Given the description of an element on the screen output the (x, y) to click on. 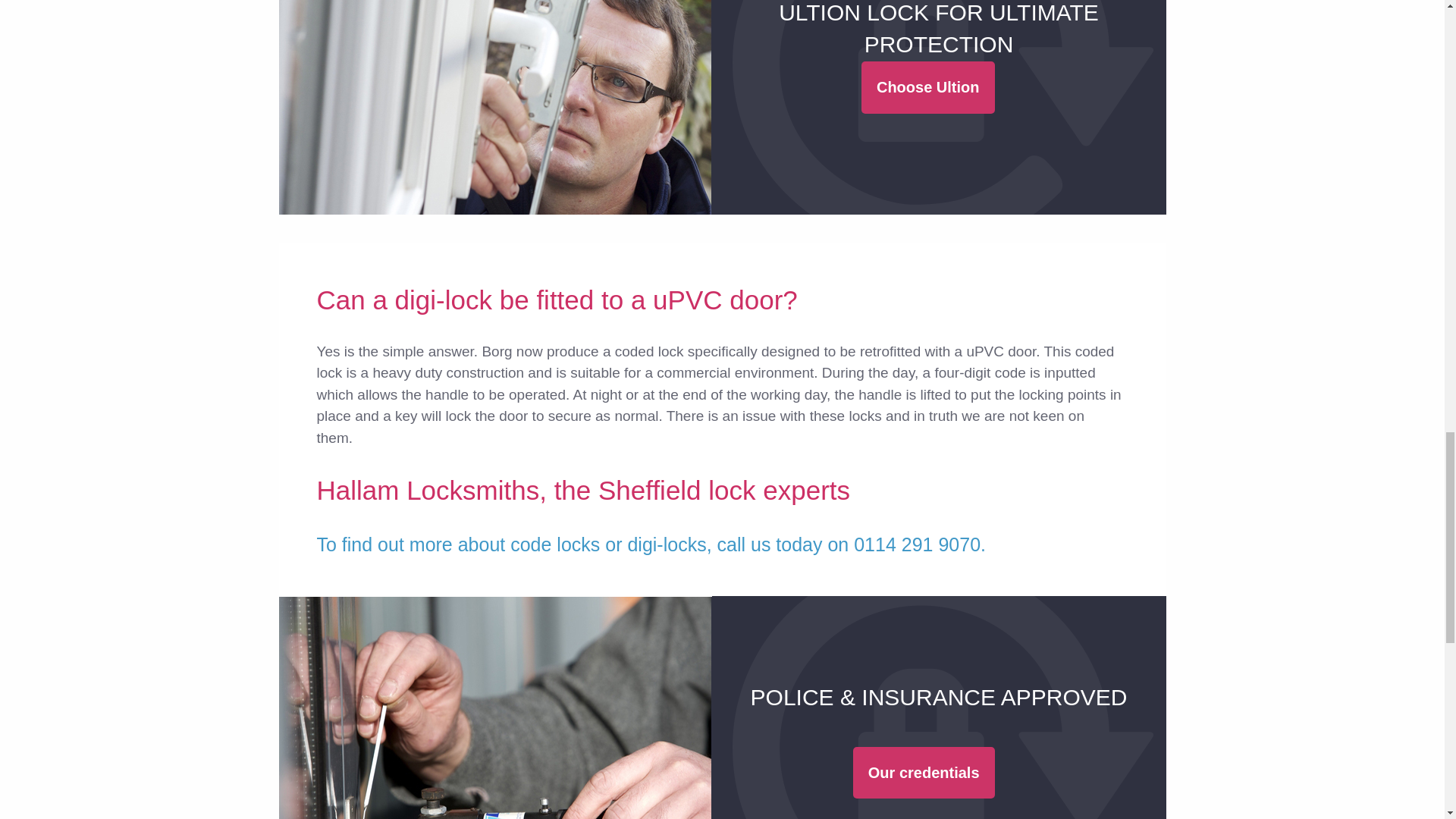
Choose Ultion (927, 87)
Our credentials (923, 772)
